Given the description of an element on the screen output the (x, y) to click on. 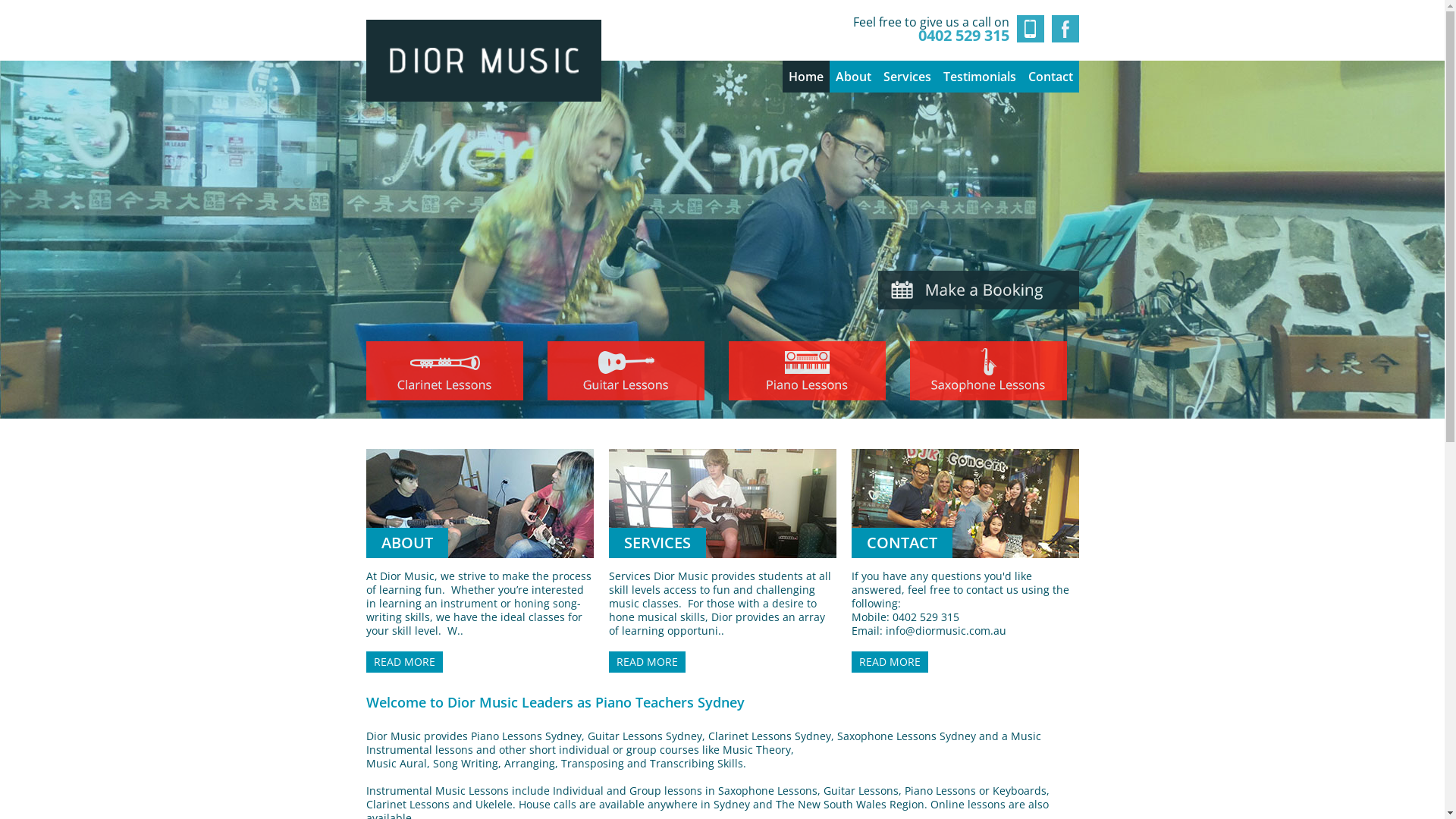
Feel free to give us a call on
0402 529 315 Element type: text (947, 29)
READ MORE Element type: text (646, 661)
READ MORE Element type: text (888, 661)
SERVICES Element type: text (721, 503)
CONTACT Element type: text (964, 503)
About Element type: text (853, 76)
Testimonials Element type: text (979, 76)
Home Element type: text (805, 76)
Services Element type: text (906, 76)
ABOUT Element type: text (479, 503)
READ MORE Element type: text (403, 661)
Contact Element type: text (1050, 76)
